Given the description of an element on the screen output the (x, y) to click on. 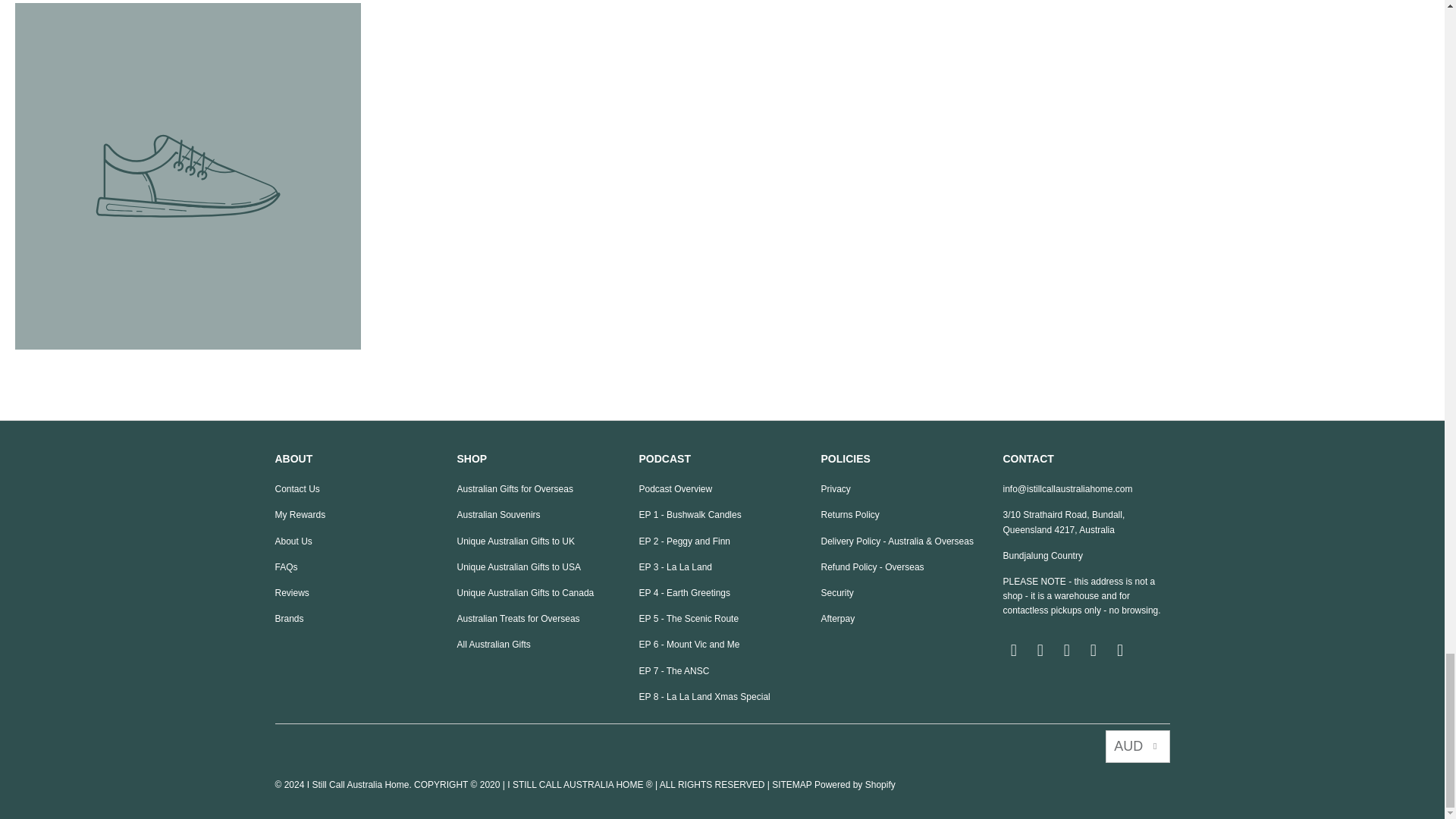
I Still Call Australia Home on Twitter (1120, 650)
Email I Still Call Australia Home (1014, 650)
I Still Call Australia Home on Pinterest (1094, 650)
I Still Call Australia Home on Facebook (1040, 650)
I Still Call Australia Home on Instagram (1067, 650)
